Given the description of an element on the screen output the (x, y) to click on. 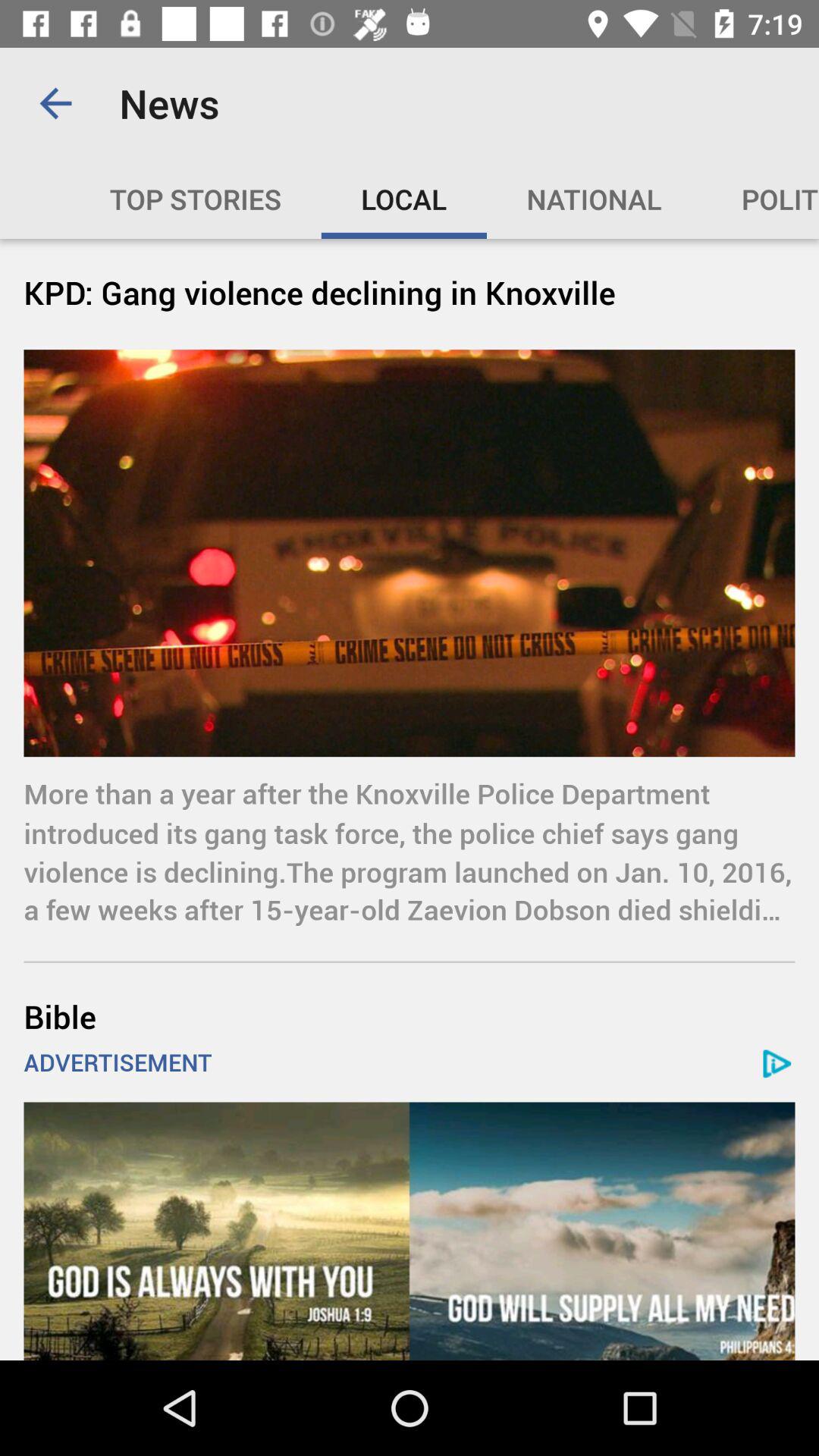
click on the advertisement (409, 1231)
